Given the description of an element on the screen output the (x, y) to click on. 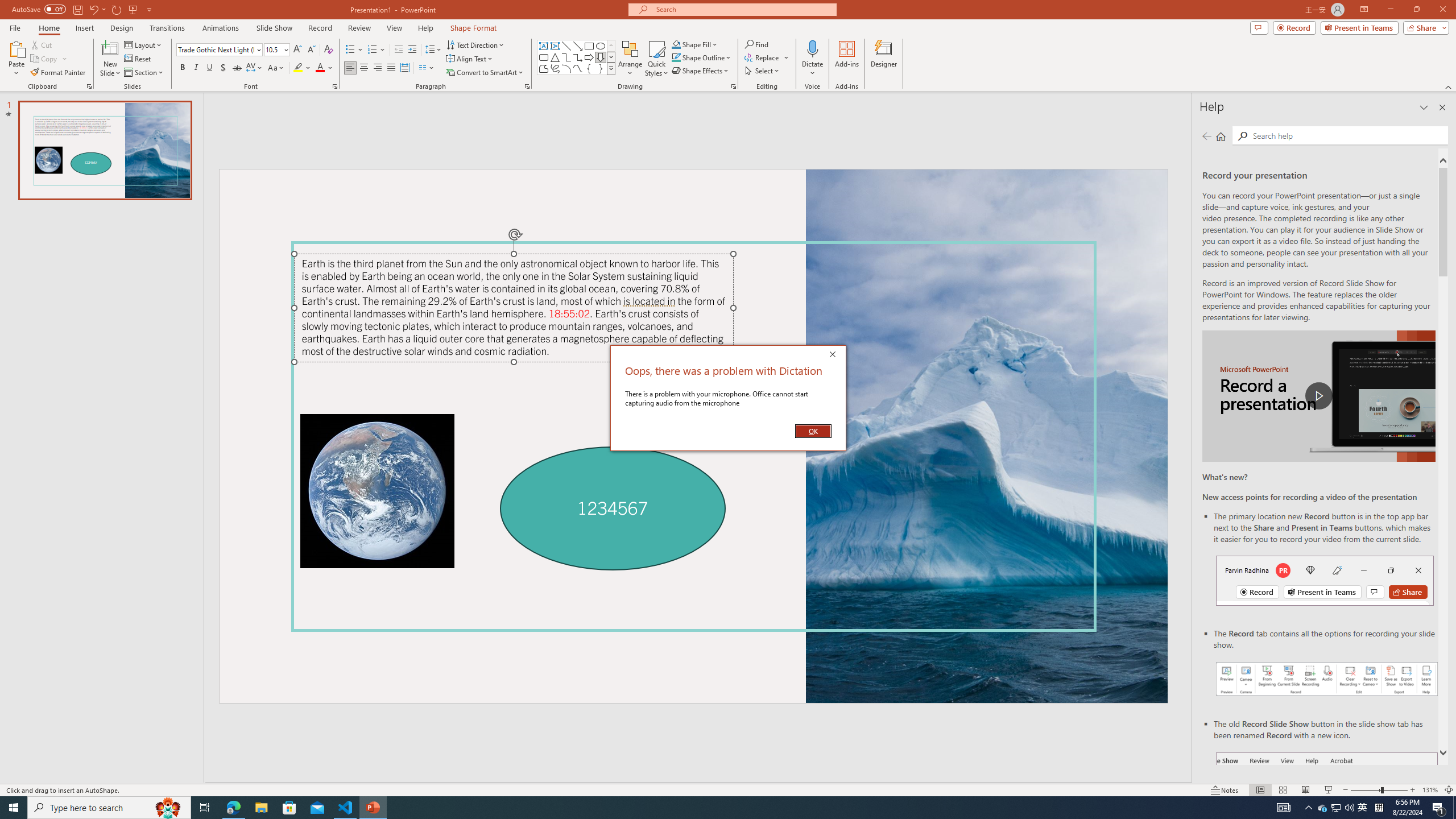
Task View (204, 807)
Decrease Font Size (1362, 807)
System (310, 49)
Justify (6, 6)
Quick Access Toolbar (390, 67)
Office Clipboard... (82, 9)
Task Pane Options (88, 85)
Animations (1423, 107)
Save (220, 28)
Quick Styles (77, 9)
Copy (656, 58)
Record (49, 58)
Align Left (320, 28)
